Given the description of an element on the screen output the (x, y) to click on. 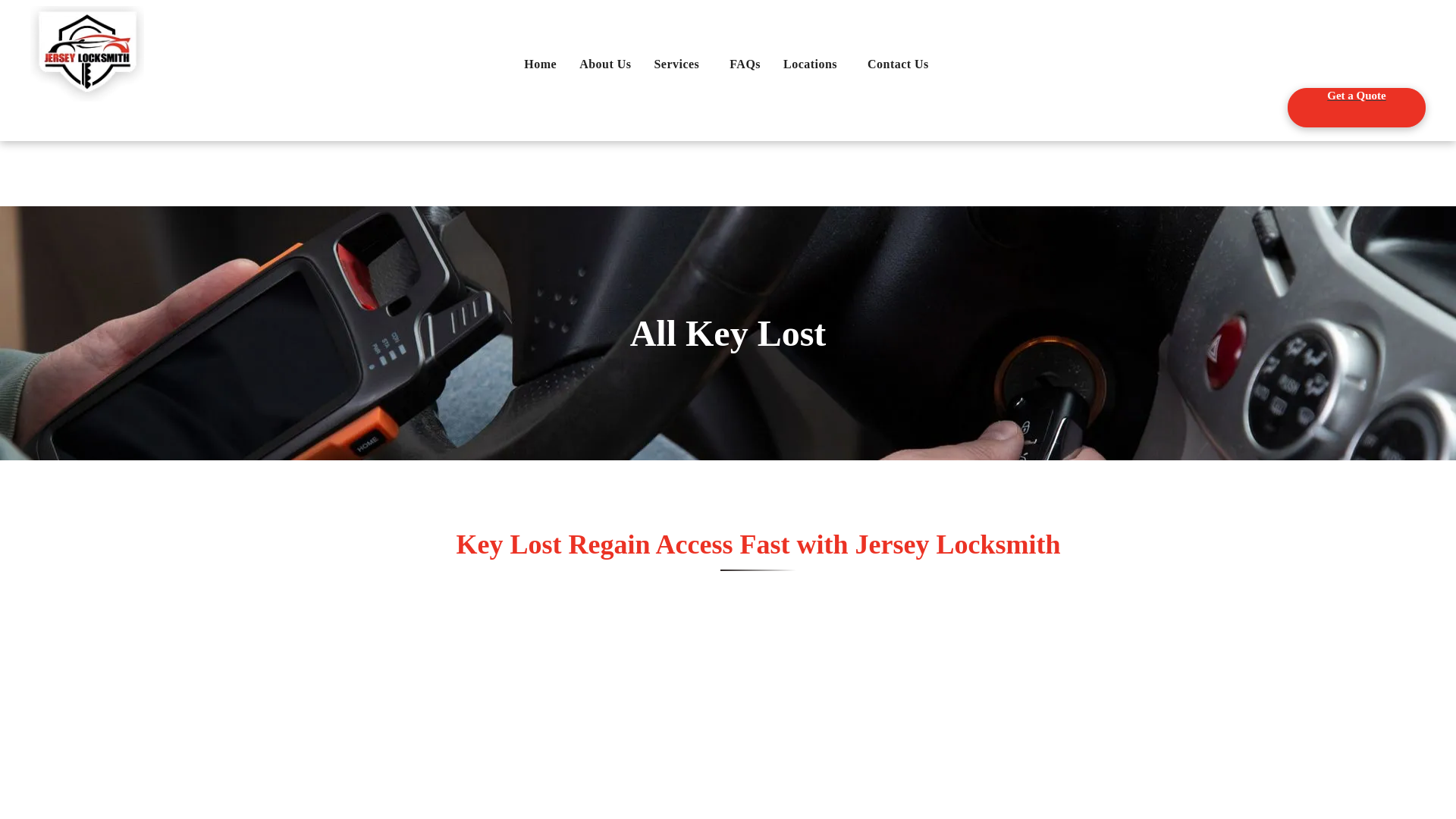
About Us (604, 64)
Home (539, 64)
Services (679, 64)
FAQs (744, 64)
Locations (813, 64)
Contact Us (898, 64)
Jersey Locksmiths (87, 53)
Get a Quote (1356, 107)
